Given the description of an element on the screen output the (x, y) to click on. 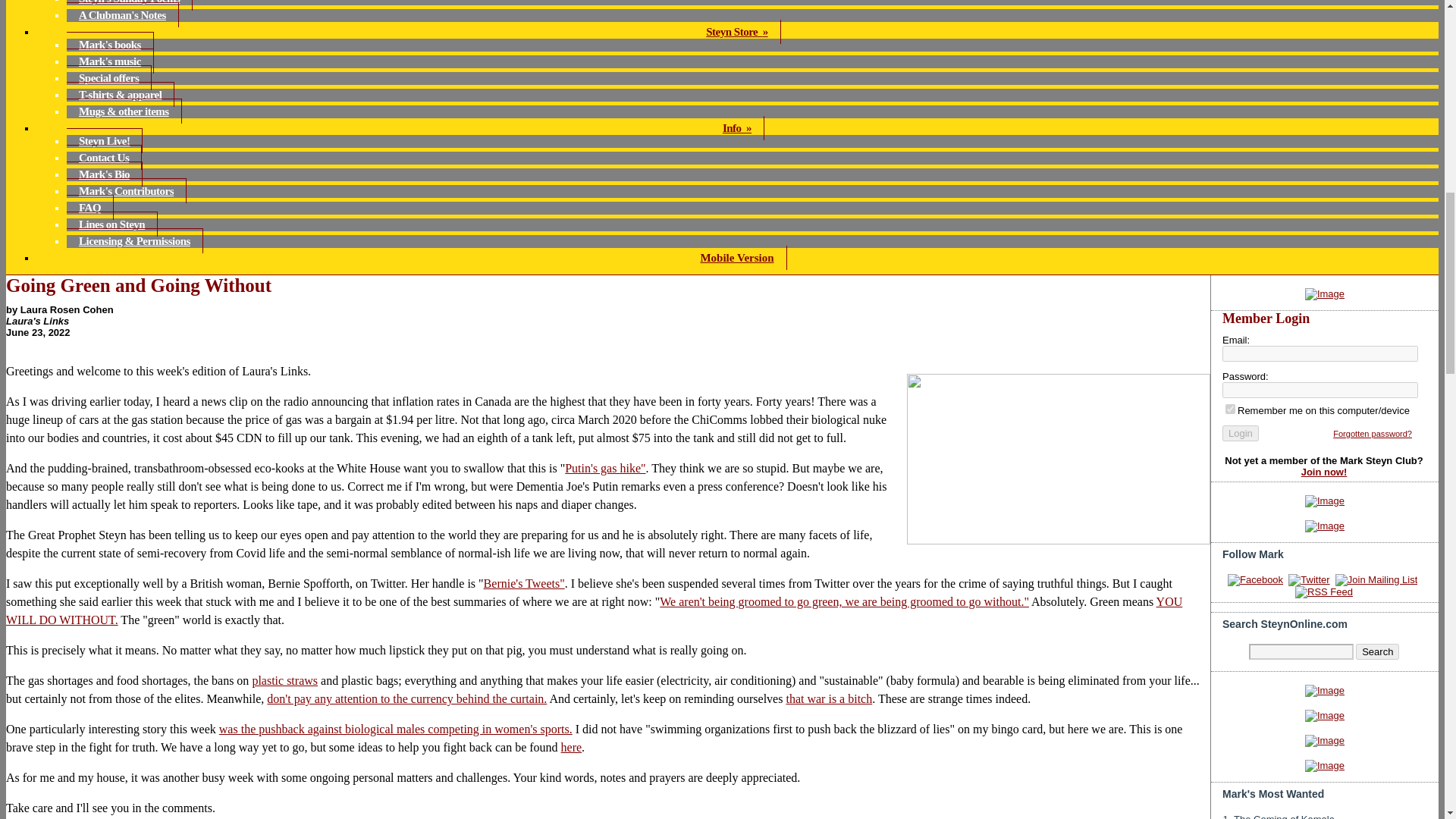
Login (1241, 433)
RSS Feed (1323, 592)
persist (1229, 409)
Facebook (1254, 580)
Twitter (1308, 580)
Join Mailing List (1376, 580)
Search (1377, 651)
